Given the description of an element on the screen output the (x, y) to click on. 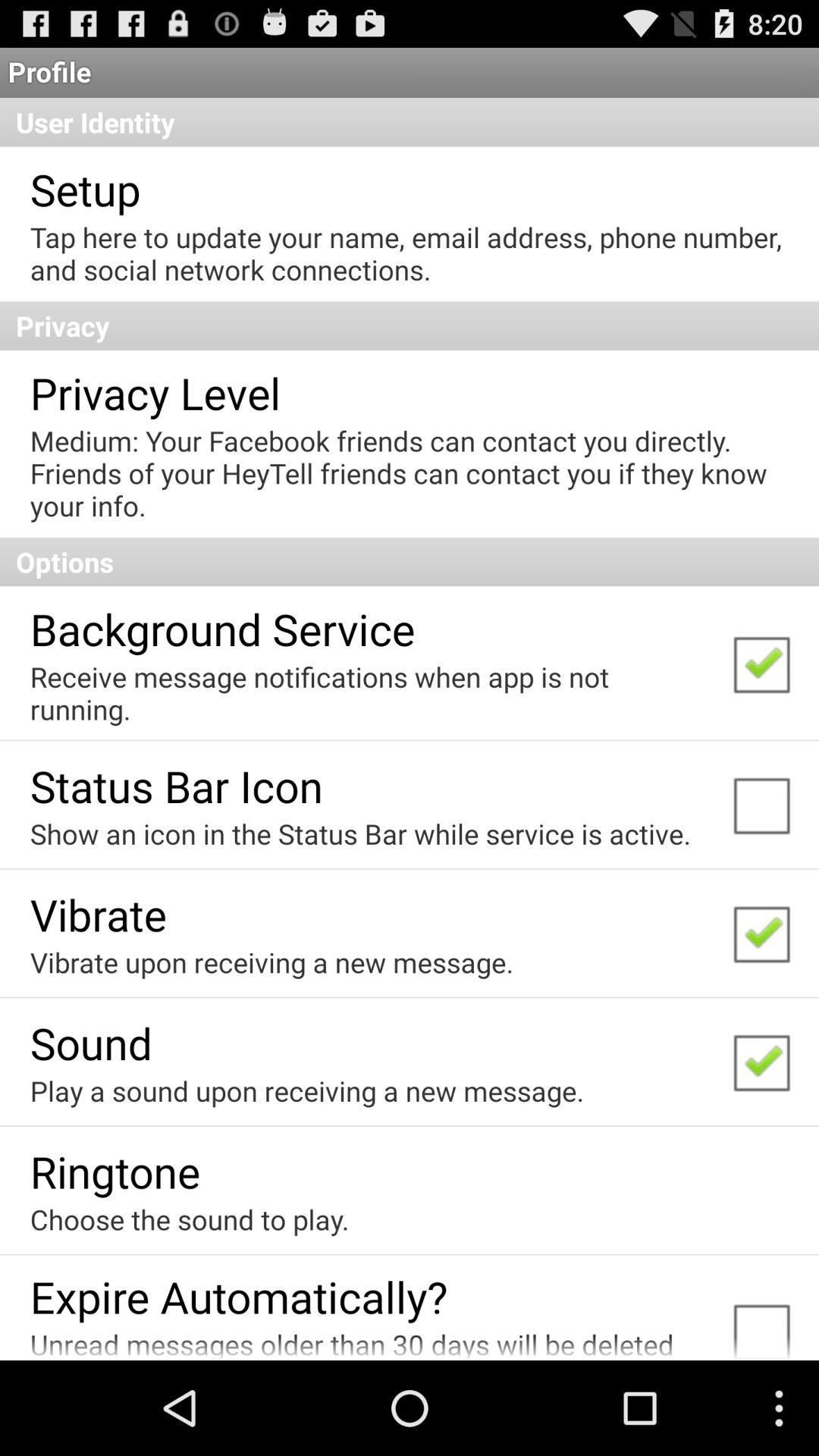
choose icon below the profile (409, 121)
